Given the description of an element on the screen output the (x, y) to click on. 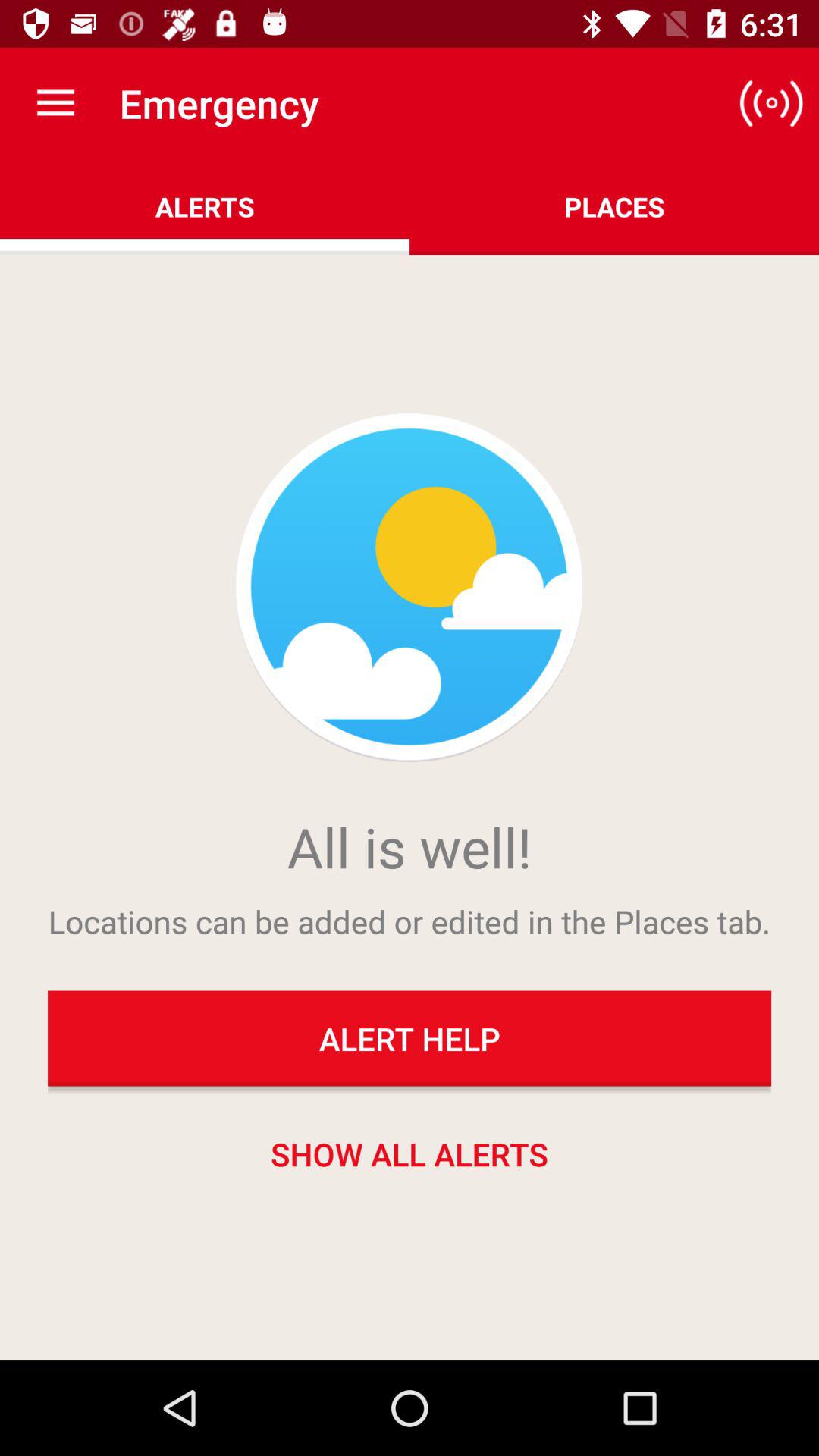
turn on the show all alerts icon (409, 1153)
